Given the description of an element on the screen output the (x, y) to click on. 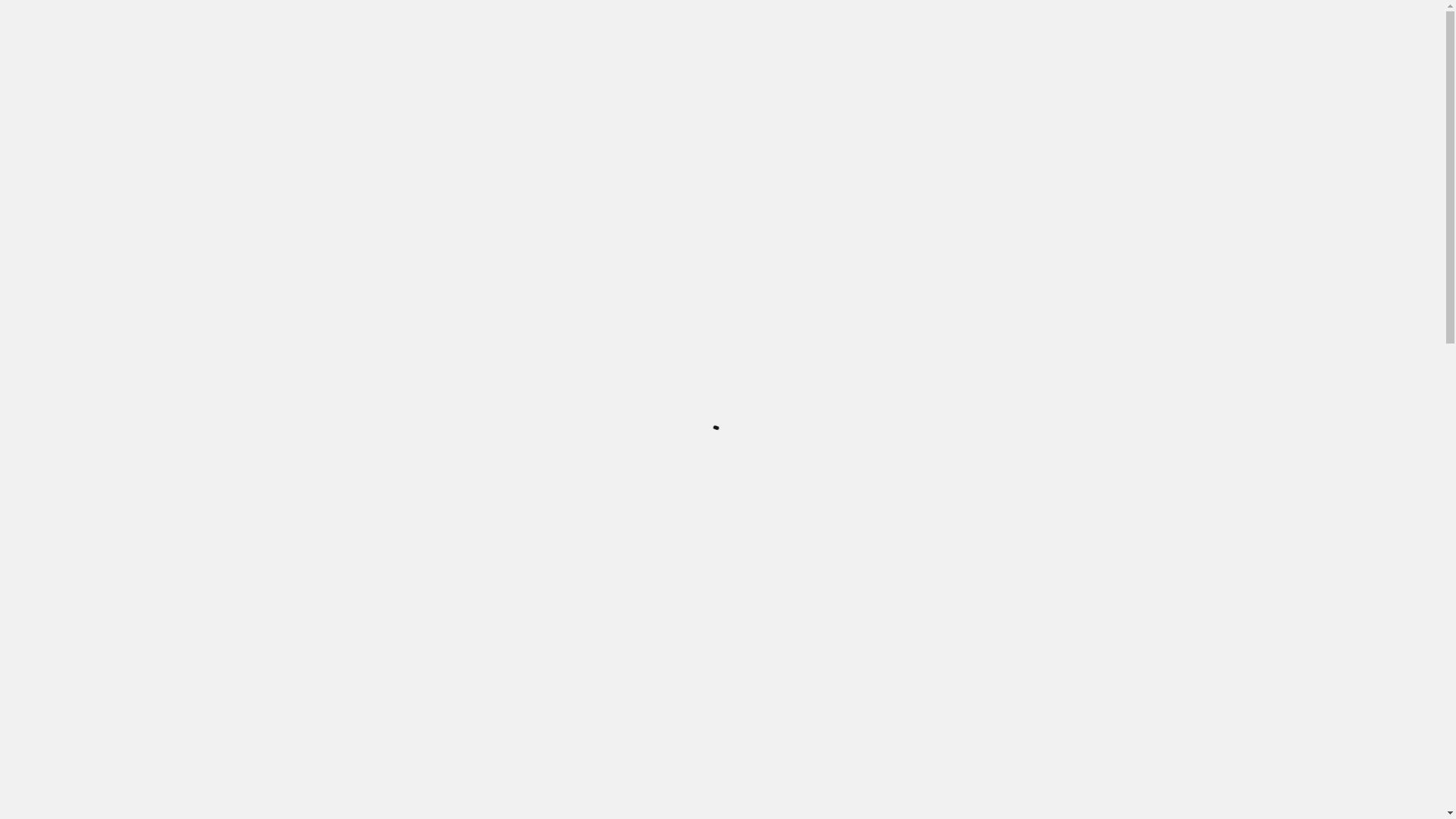
GALLERY Element type: text (715, 73)
Cash for Car Element type: text (366, 164)
old car removals Melbourne Element type: text (556, 701)
Kurt Romero Element type: text (406, 238)
ABOUT US Element type: text (593, 73)
Car Element type: text (323, 164)
Send Element type: text (964, 569)
+61 8 9741 8910 Element type: text (548, 18)
nostalgiadrags@gmail.com Element type: text (681, 18)
PRIVACY POLICY Element type: text (886, 73)
BLOG Element type: text (656, 73)
CONTACT US Element type: text (792, 73)
Nostalgiadrags Element type: text (362, 97)
HOME Element type: text (531, 73)
Blog Element type: text (298, 164)
Cash for Unwanted Cars in Sydney: Turning Clunkers into Cash Element type: text (1037, 684)
Scrap Metal Recyclers Near Me: Turning Trash into Treasure Element type: text (1027, 726)
